Given the description of an element on the screen output the (x, y) to click on. 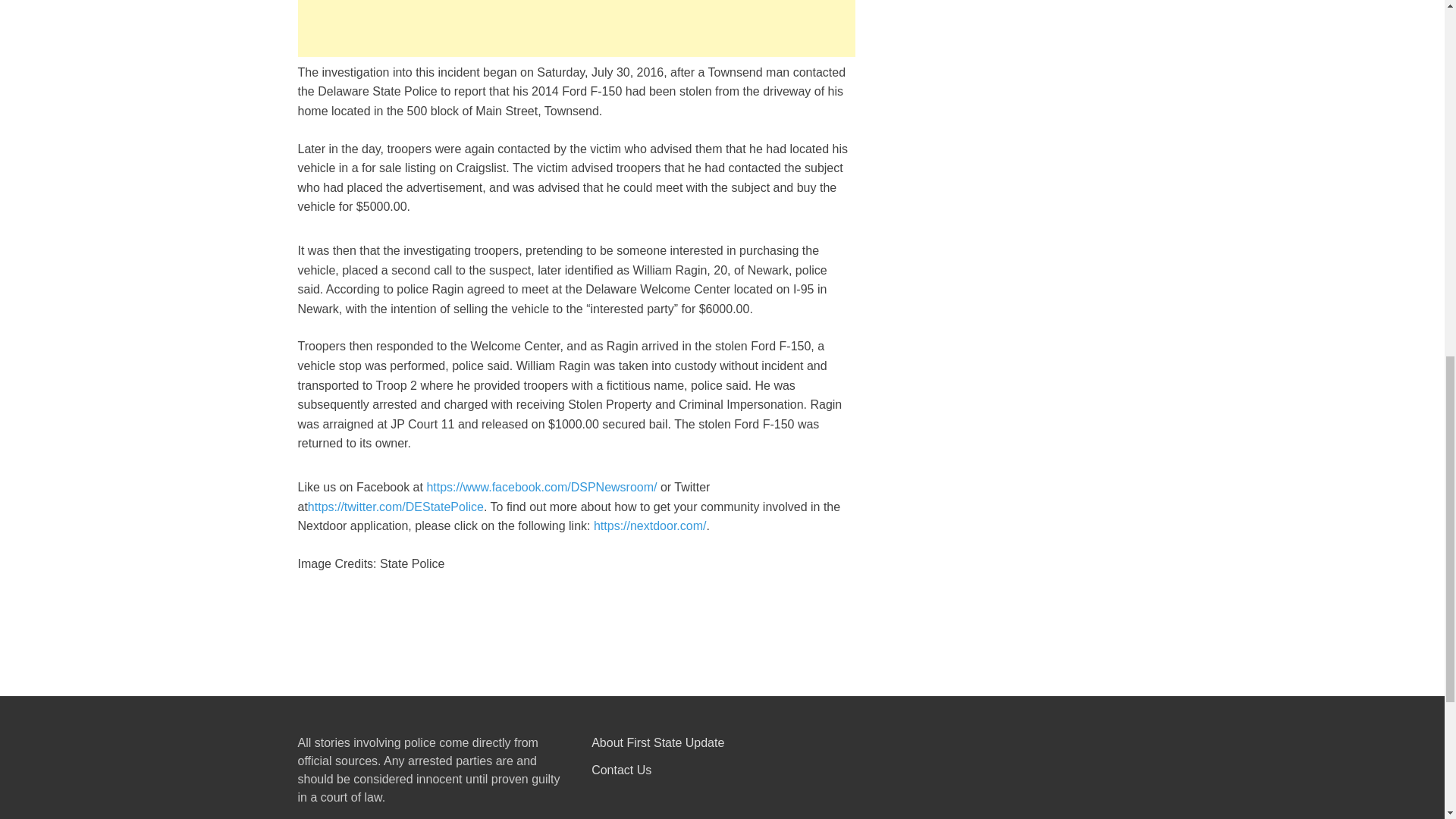
Advertisement (575, 28)
